Given the description of an element on the screen output the (x, y) to click on. 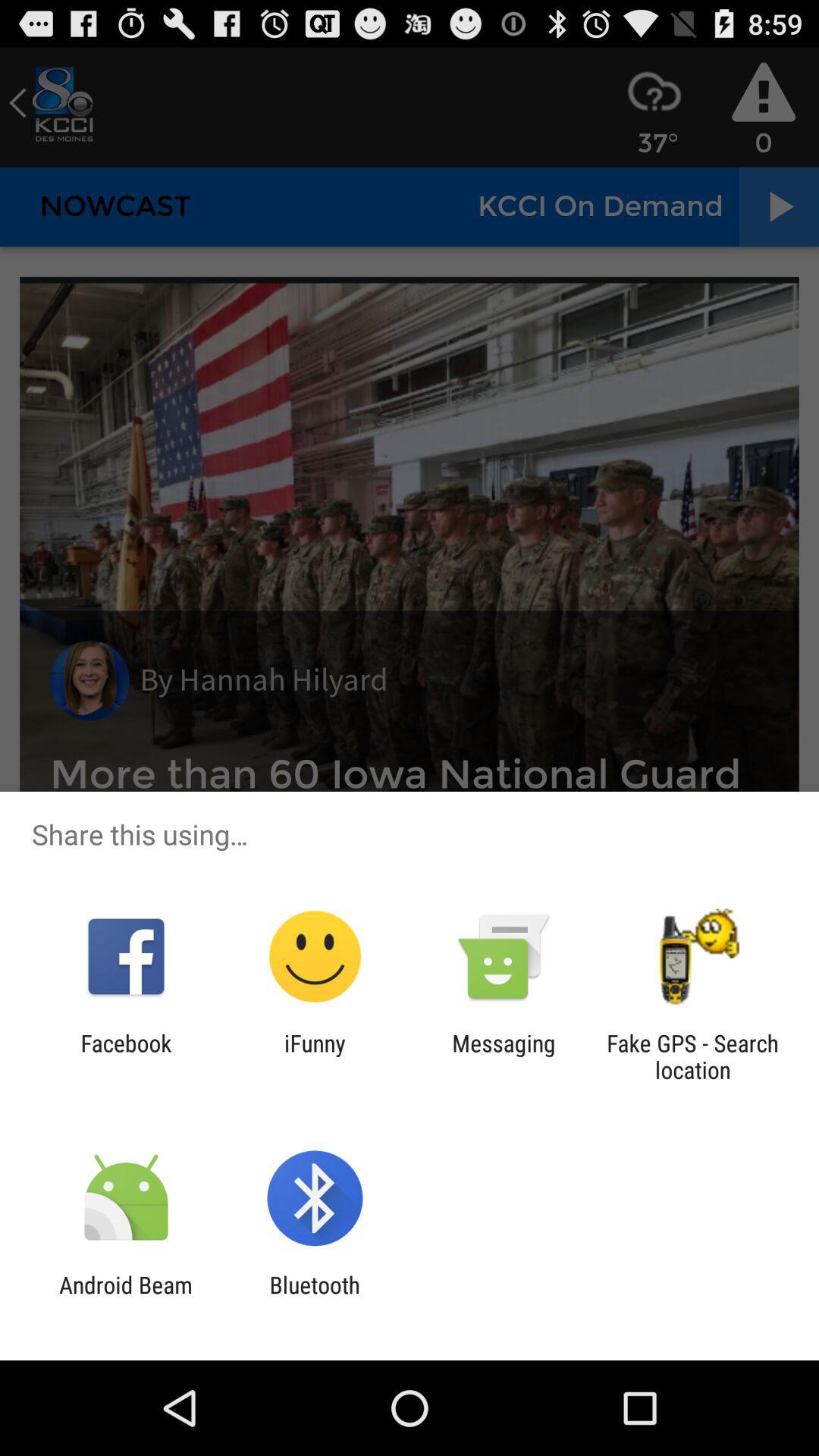
launch the item to the right of ifunny (503, 1056)
